Given the description of an element on the screen output the (x, y) to click on. 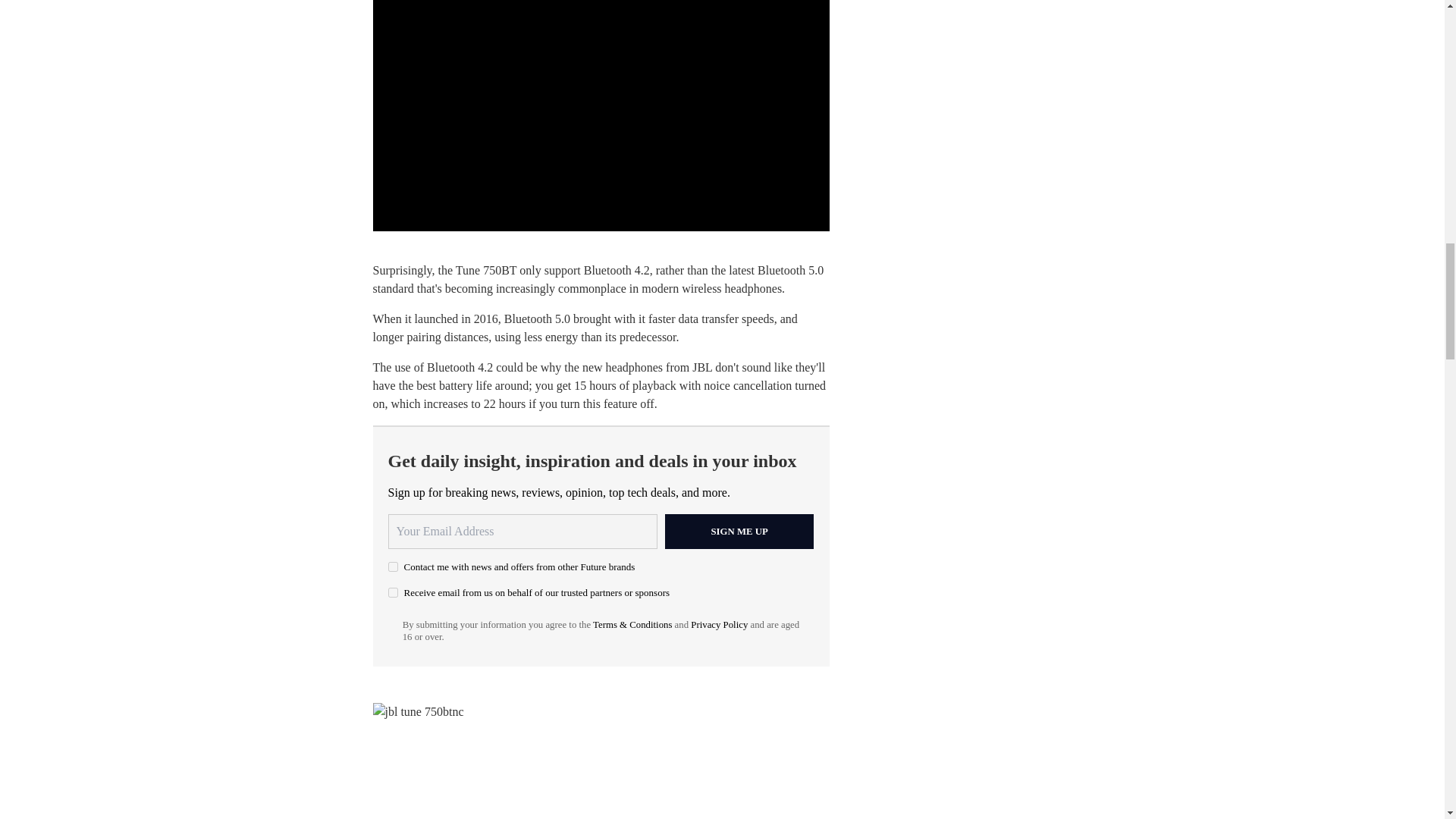
on (392, 566)
on (392, 592)
Sign me up (739, 531)
